Given the description of an element on the screen output the (x, y) to click on. 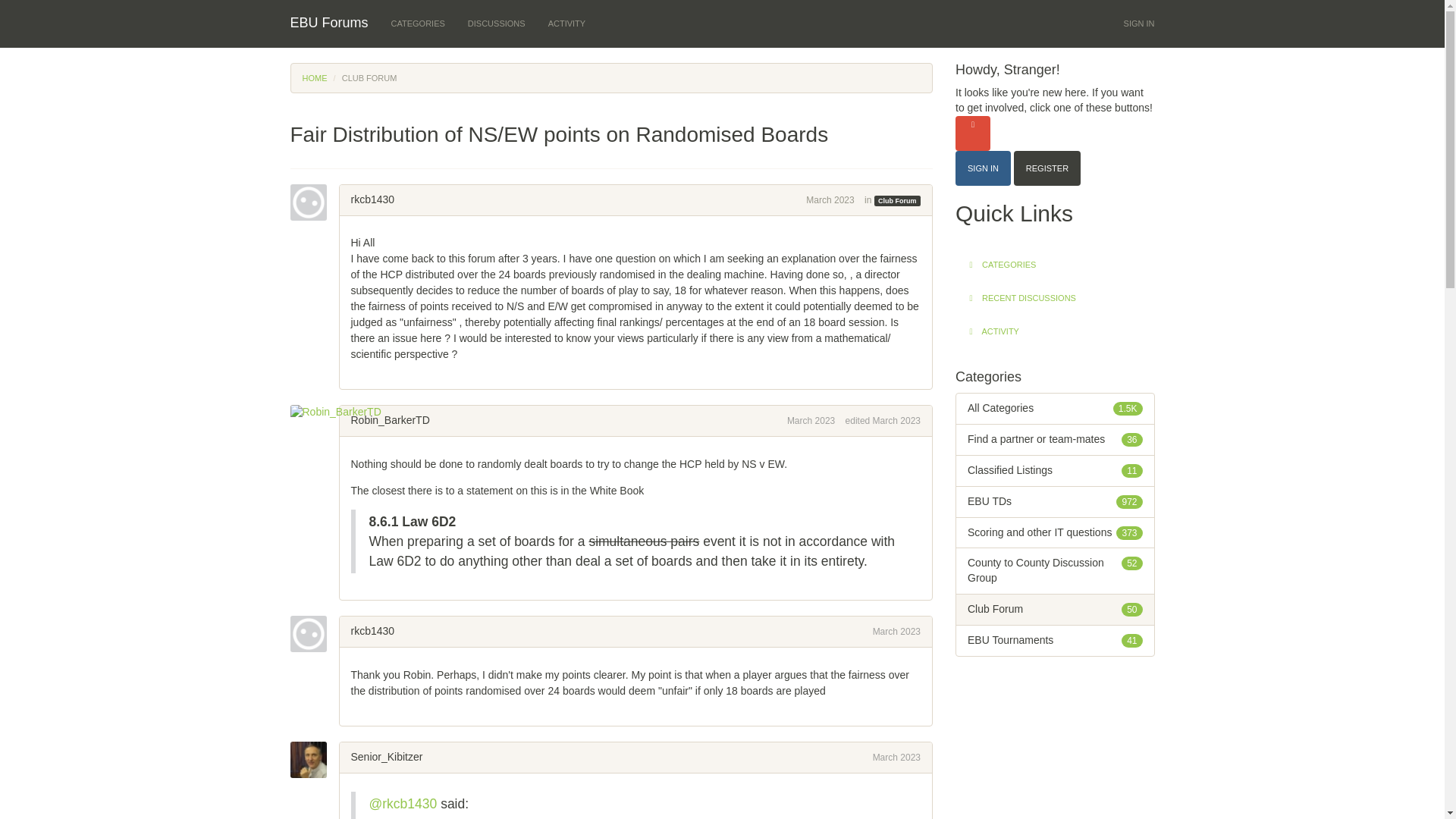
March 8, 2023 10:01PM (810, 420)
rkcb1430 (372, 199)
DISCUSSIONS (497, 23)
March 8, 2023 9:49PM (829, 199)
rkcb1430 (313, 202)
March 8, 2023 10:22PM (896, 631)
rkcb1430 (372, 630)
CLUB FORUM (369, 77)
Club Forum (897, 200)
March 2023 (896, 757)
ACTIVITY (566, 23)
rkcb1430 (313, 633)
Sign In with Google (972, 133)
March 9, 2023 12:25AM (896, 757)
SIGN IN (1139, 23)
